Given the description of an element on the screen output the (x, y) to click on. 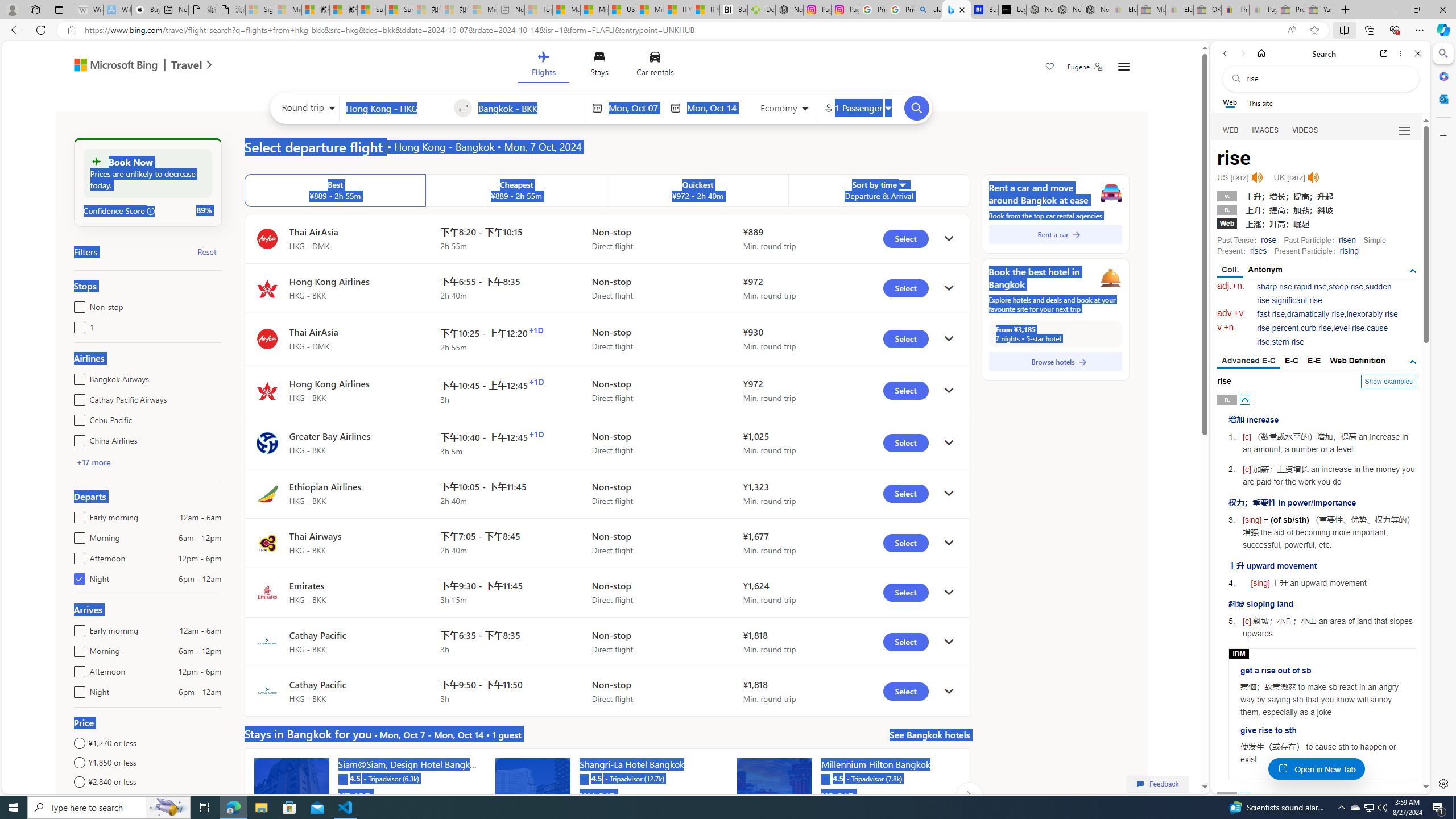
Yard, Garden & Outdoor Living - Sleeping (1319, 9)
Class: b_serphb (1404, 130)
Class: trvl-hub-header nofilter (601, 65)
Web scope (1230, 102)
Advanced E-C (1248, 361)
sharp rise (1274, 286)
Sorter (901, 184)
Preferences (1403, 129)
significant rise (1296, 300)
